Given the description of an element on the screen output the (x, y) to click on. 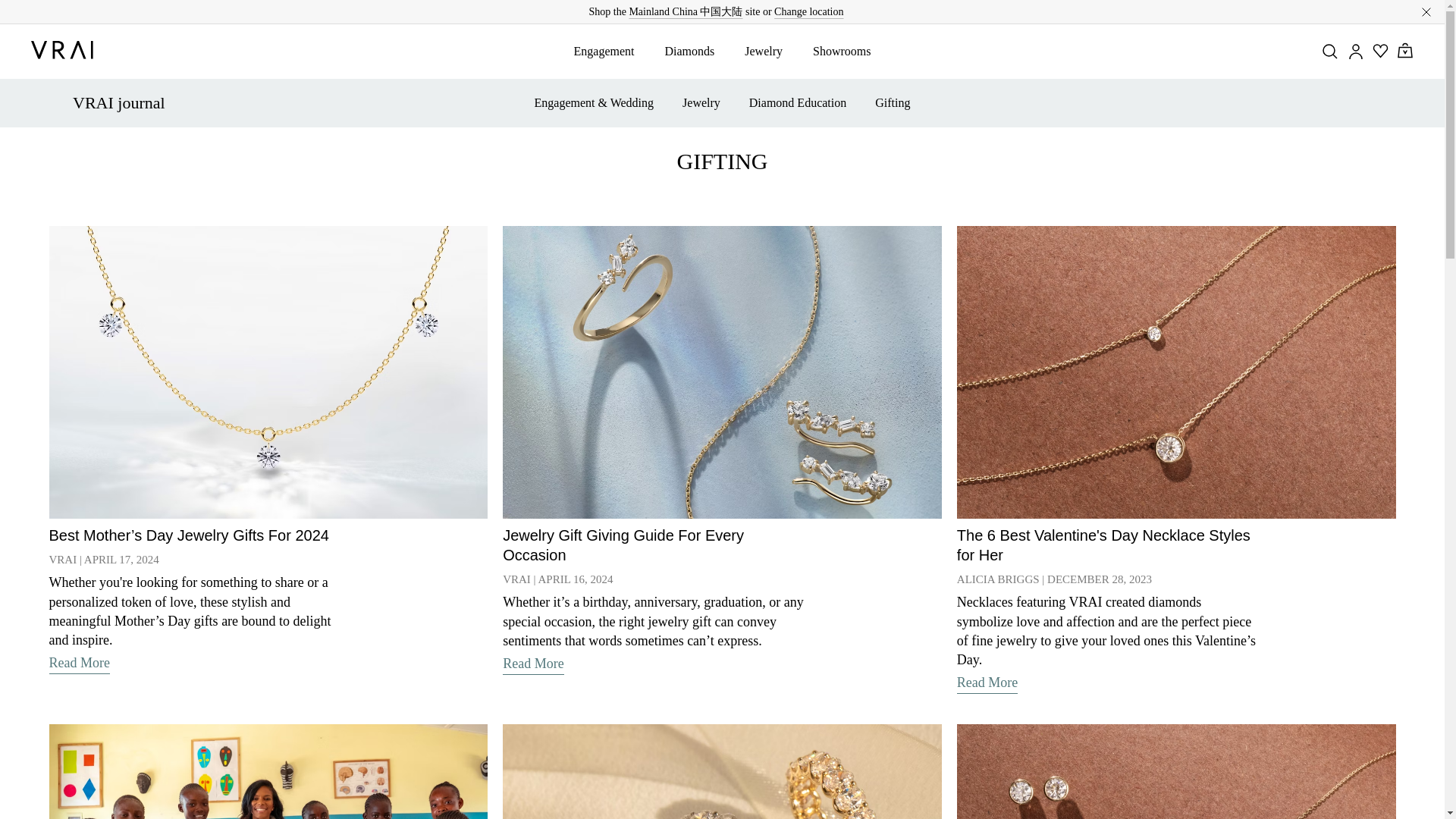
Engagement (603, 51)
Showrooms (841, 51)
Change location (808, 11)
Diamonds (688, 51)
Consult with a diamond expert online (716, 10)
Jewelry (763, 51)
